Given the description of an element on the screen output the (x, y) to click on. 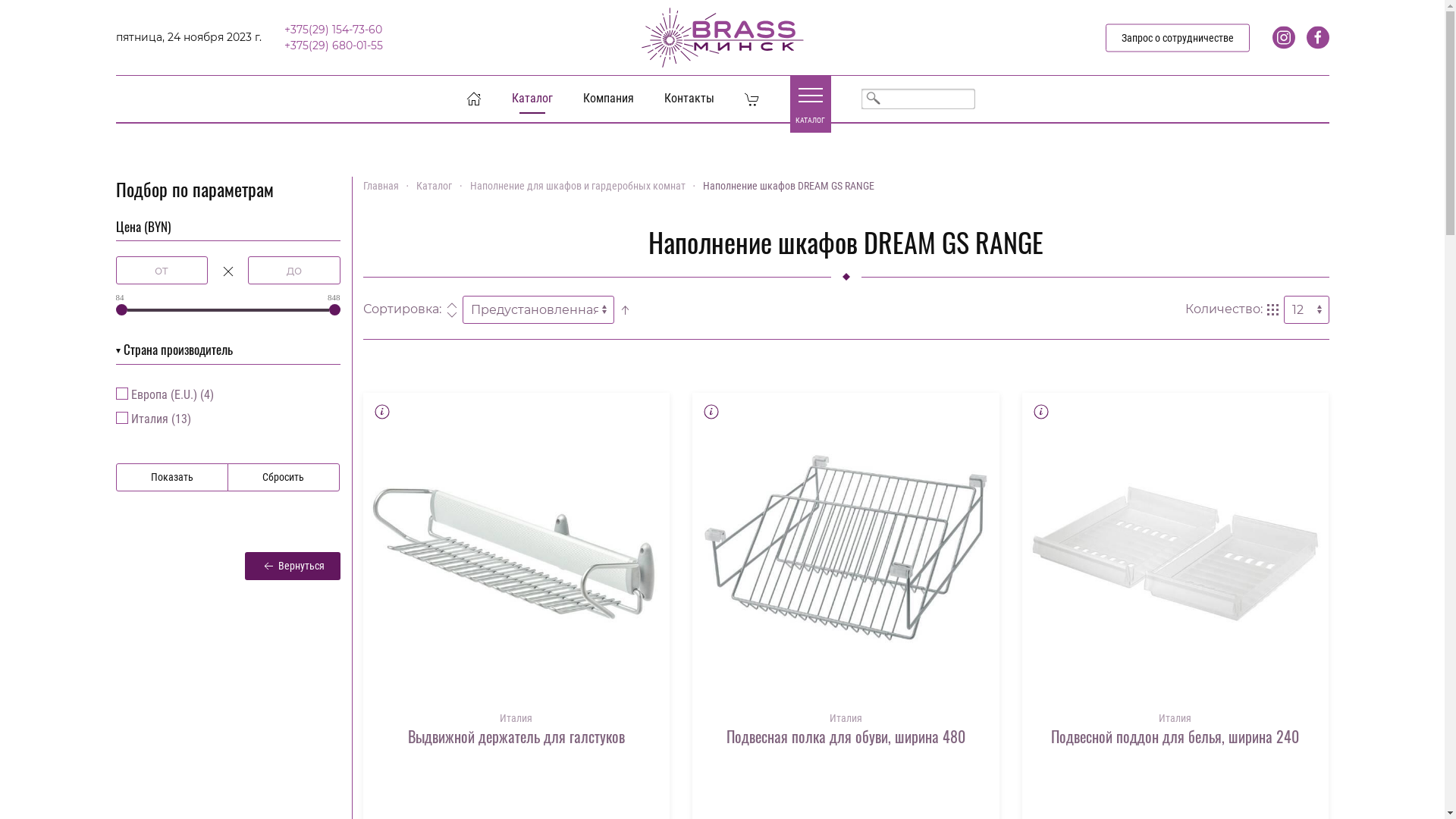
1 Element type: text (121, 417)
+375(29) 680-01-55 Element type: text (332, 44)
+375(29) 154-73-60 Element type: text (332, 29)
3 Element type: text (121, 393)
